Given the description of an element on the screen output the (x, y) to click on. 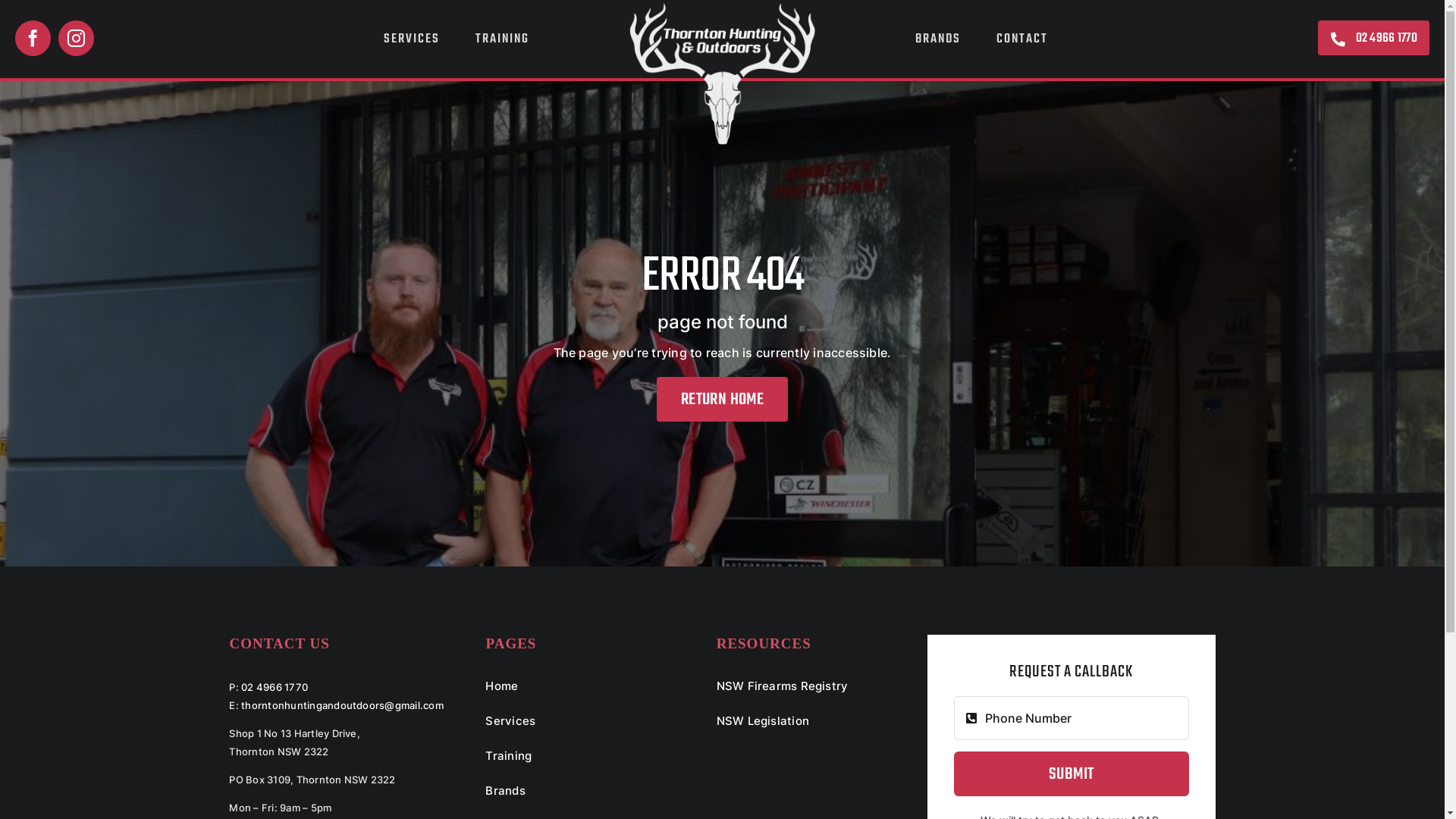
TRAINING Element type: text (502, 39)
NSW Firearms Registry Element type: text (811, 686)
SUBMIT Element type: text (1071, 773)
thorntonhuntingandoutdoors@gmail.com Element type: text (342, 705)
RETURN HOME Element type: text (721, 398)
Training Element type: text (580, 756)
BRANDS Element type: text (937, 39)
SERVICES Element type: text (411, 39)
Home Element type: text (580, 686)
NSW Legislation Element type: text (811, 721)
CONTACT Element type: text (1022, 39)
02 4966 1770 Element type: text (1373, 37)
Services Element type: text (580, 721)
02 4966 1770 Element type: text (274, 686)
Brands Element type: text (580, 791)
